Given the description of an element on the screen output the (x, y) to click on. 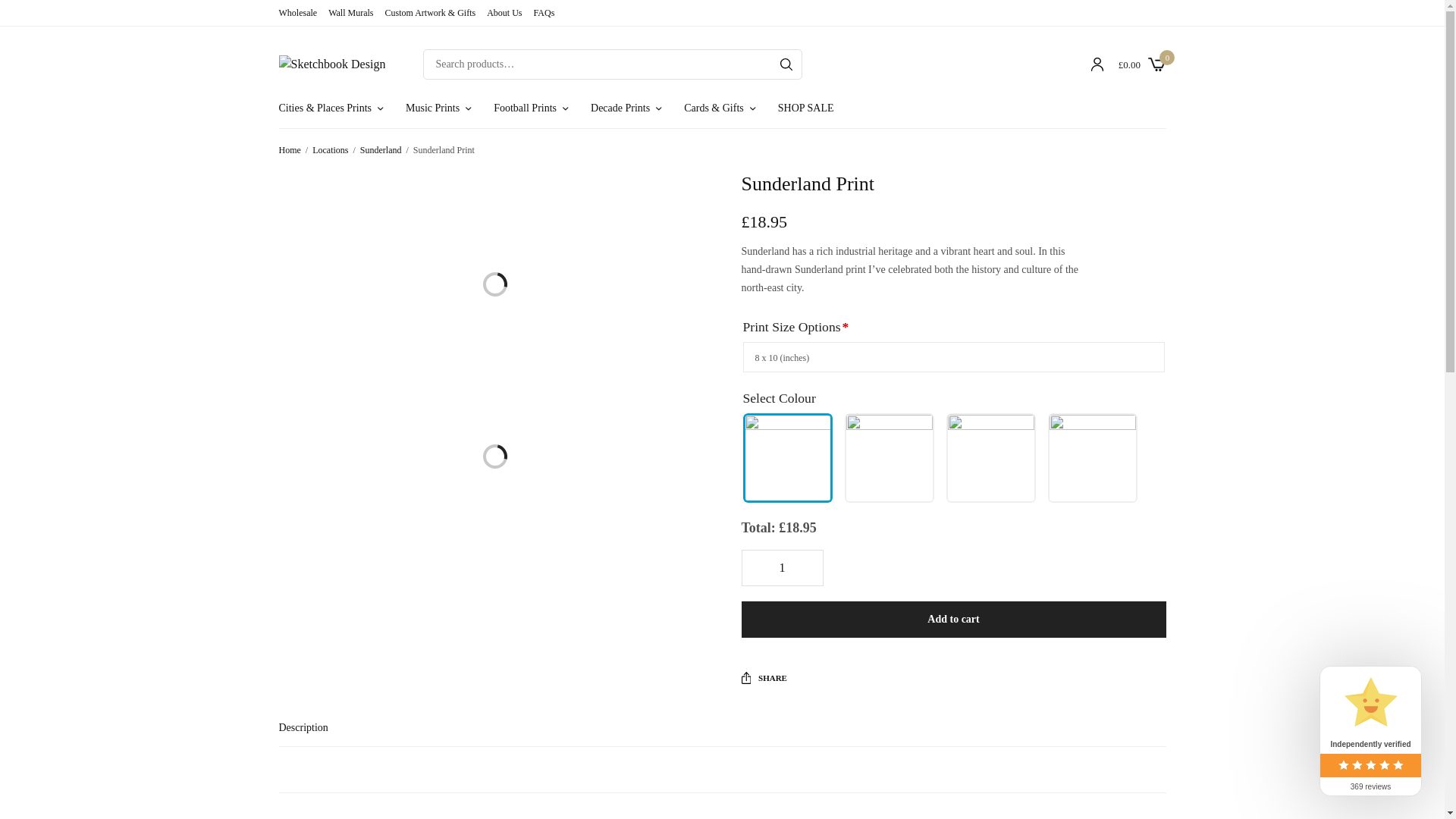
1 (781, 567)
Search (785, 63)
Wholesale (298, 12)
Wall Murals (350, 12)
About Us (503, 12)
Sketchbook Design (332, 64)
